Given the description of an element on the screen output the (x, y) to click on. 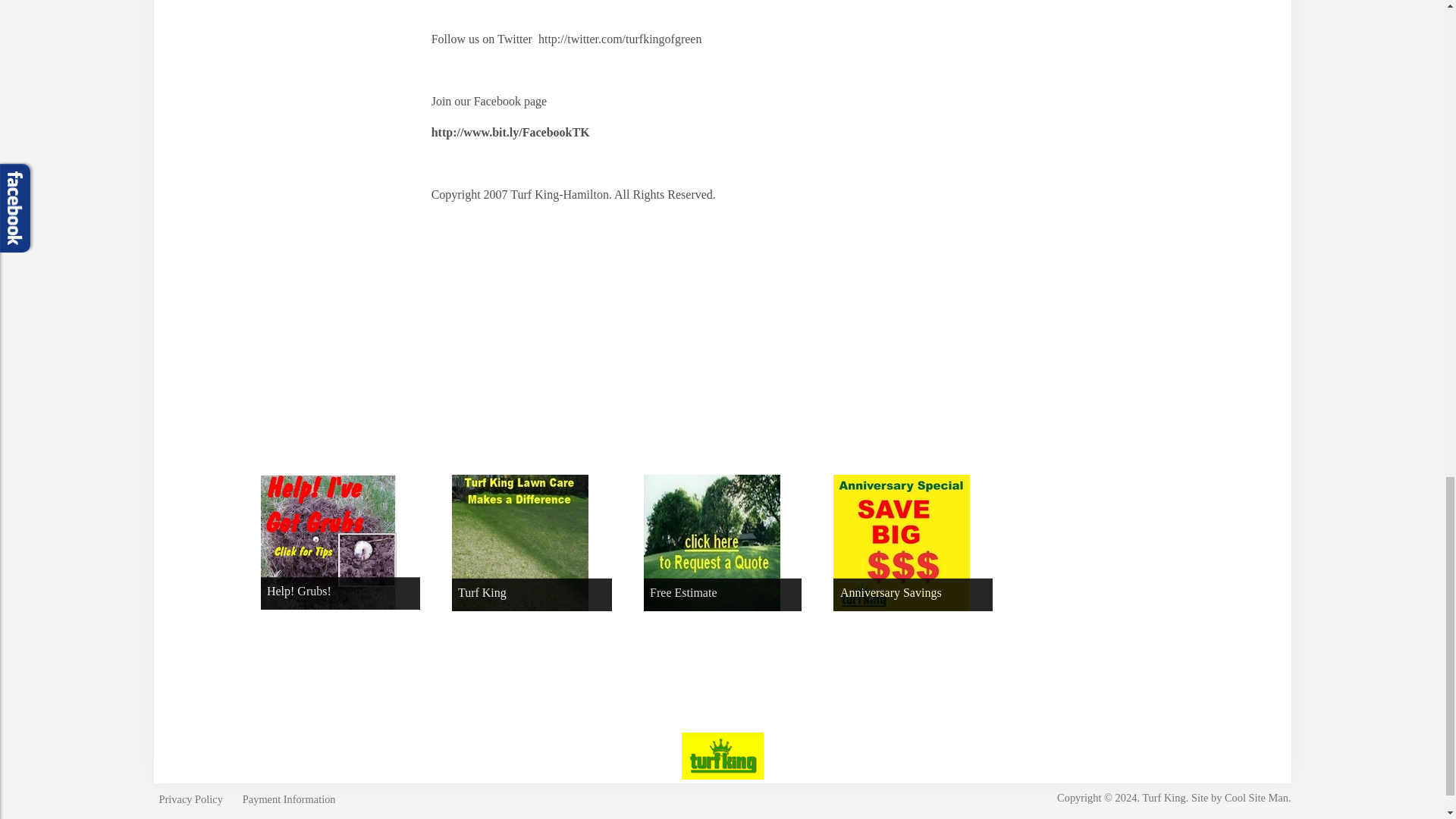
Submit to Delicious (448, 334)
Submit to Twitter (654, 334)
Submit to Google Bookmarks (603, 334)
Submit to Digg (499, 334)
Submit to LinkedIn (705, 334)
Submit to Facebook (551, 334)
Cool Site Man Website (1256, 797)
